Given the description of an element on the screen output the (x, y) to click on. 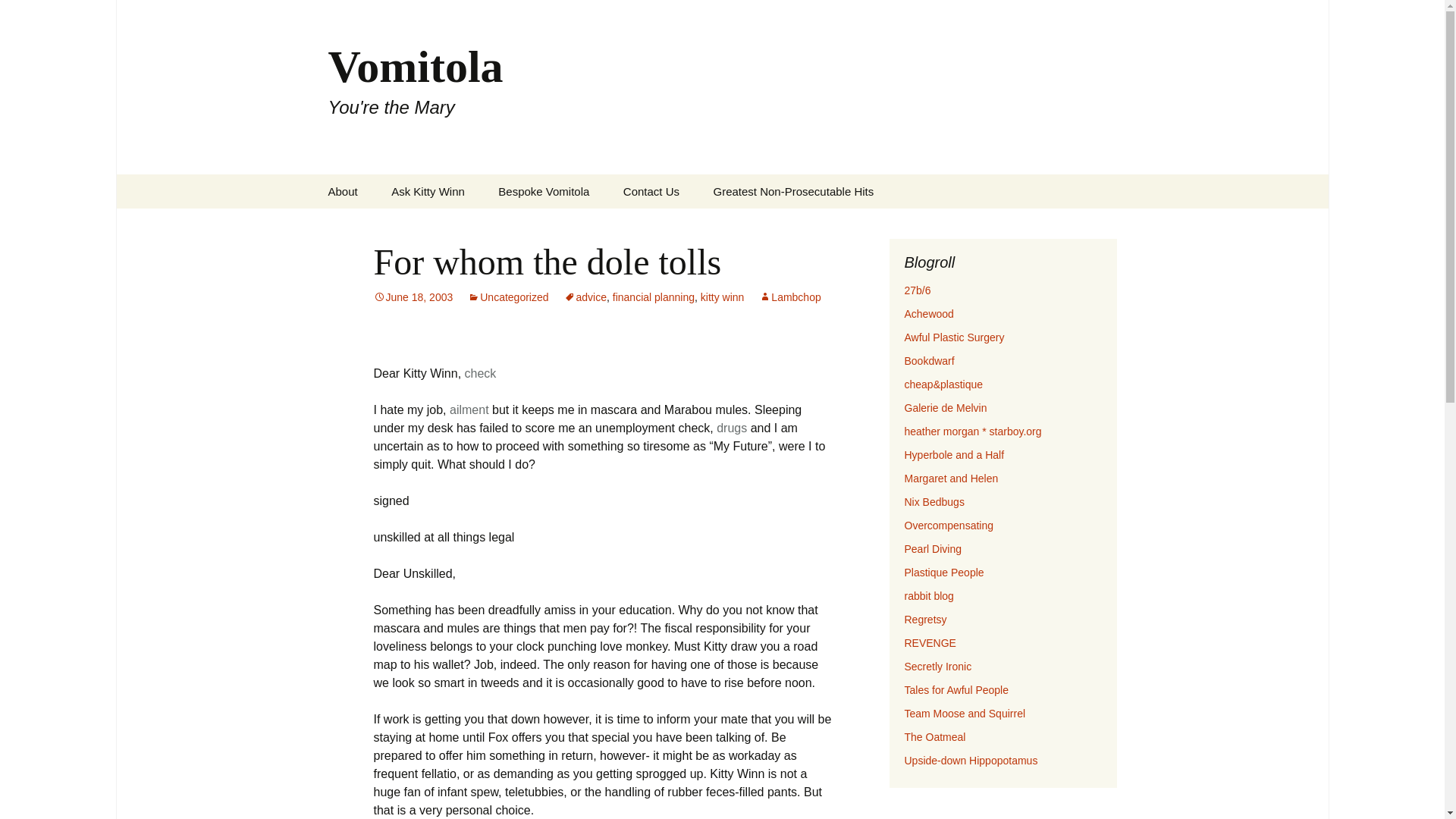
rabbit blog (928, 595)
Tales for Awful People (956, 689)
Permalink to For whom the dole tolls (412, 297)
Galerie de Melvin (945, 408)
Uncategorized (507, 297)
Margaret and Helen (950, 478)
Greatest Non-Prosecutable Hits (792, 191)
June 18, 2003 (412, 297)
check (480, 373)
